Given the description of an element on the screen output the (x, y) to click on. 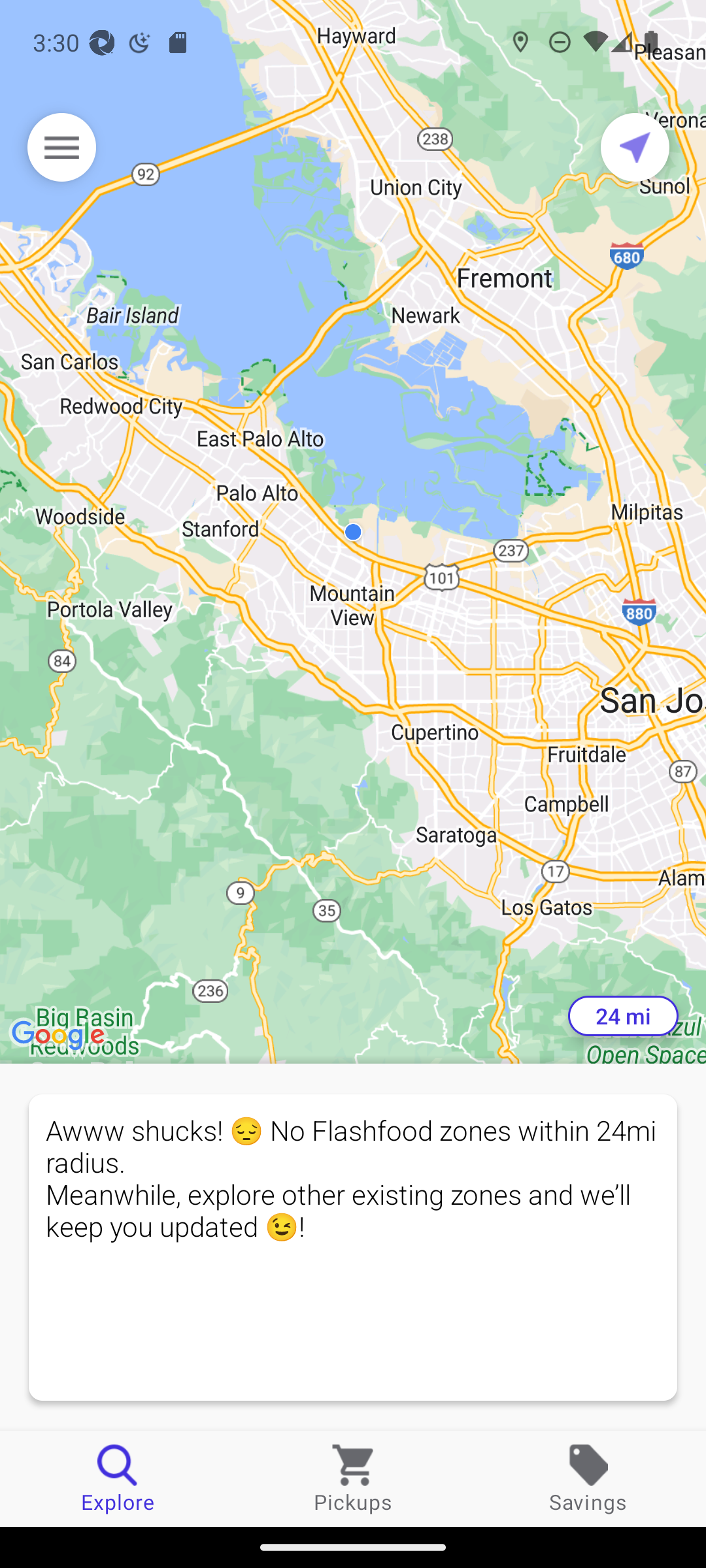
Menu (61, 146)
Current location (634, 146)
24 mi (623, 1015)
Pickups (352, 1478)
Savings (588, 1478)
